Given the description of an element on the screen output the (x, y) to click on. 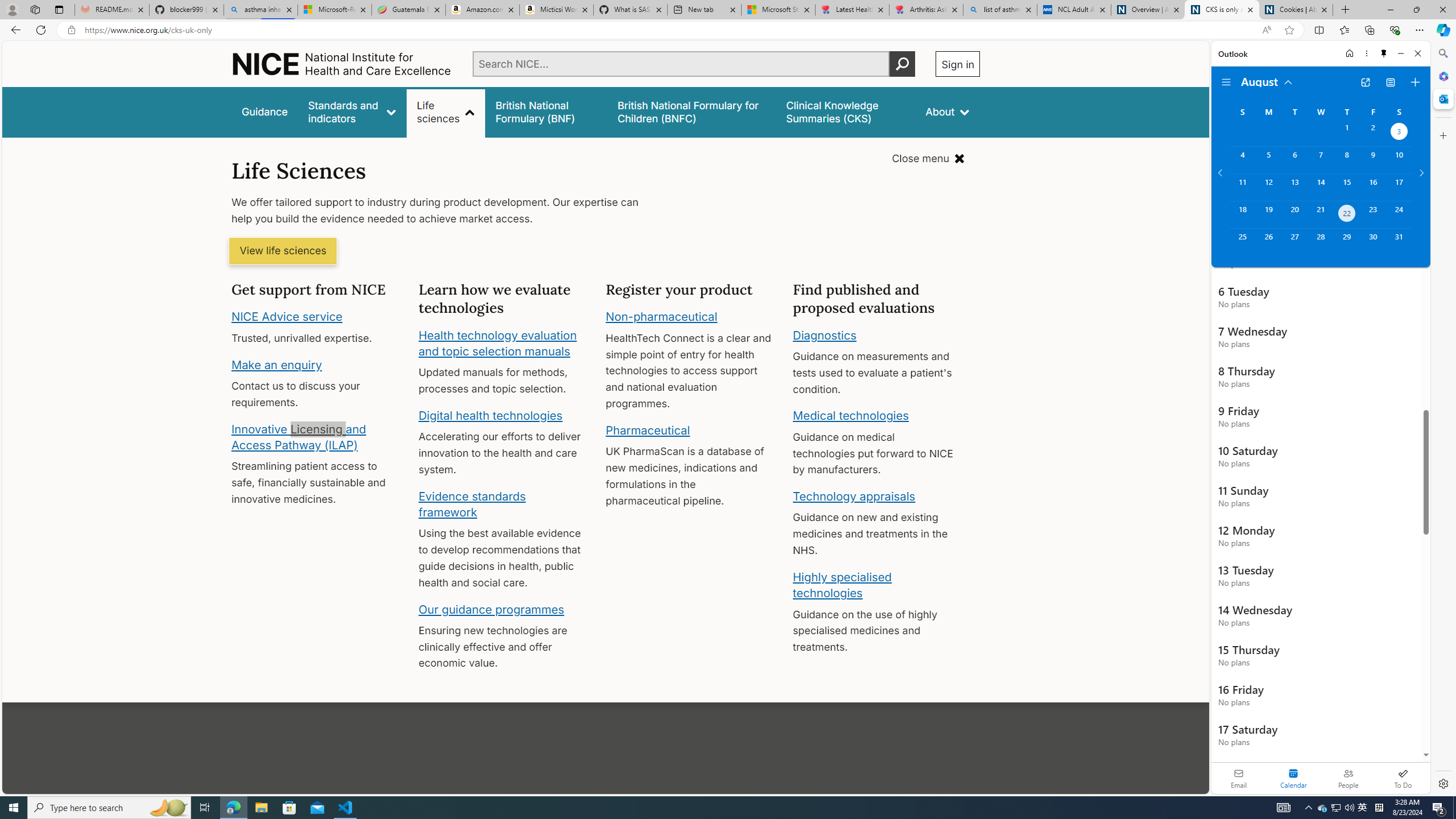
Highly specialised technologies (842, 584)
Monday, August 26, 2024.  (1268, 241)
Saturday, August 3, 2024. Date selected.  (1399, 132)
Make an enquiry (276, 364)
Diagnostics (824, 334)
NICE Advice service (287, 316)
Sunday, August 18, 2024.  (1242, 214)
